Given the description of an element on the screen output the (x, y) to click on. 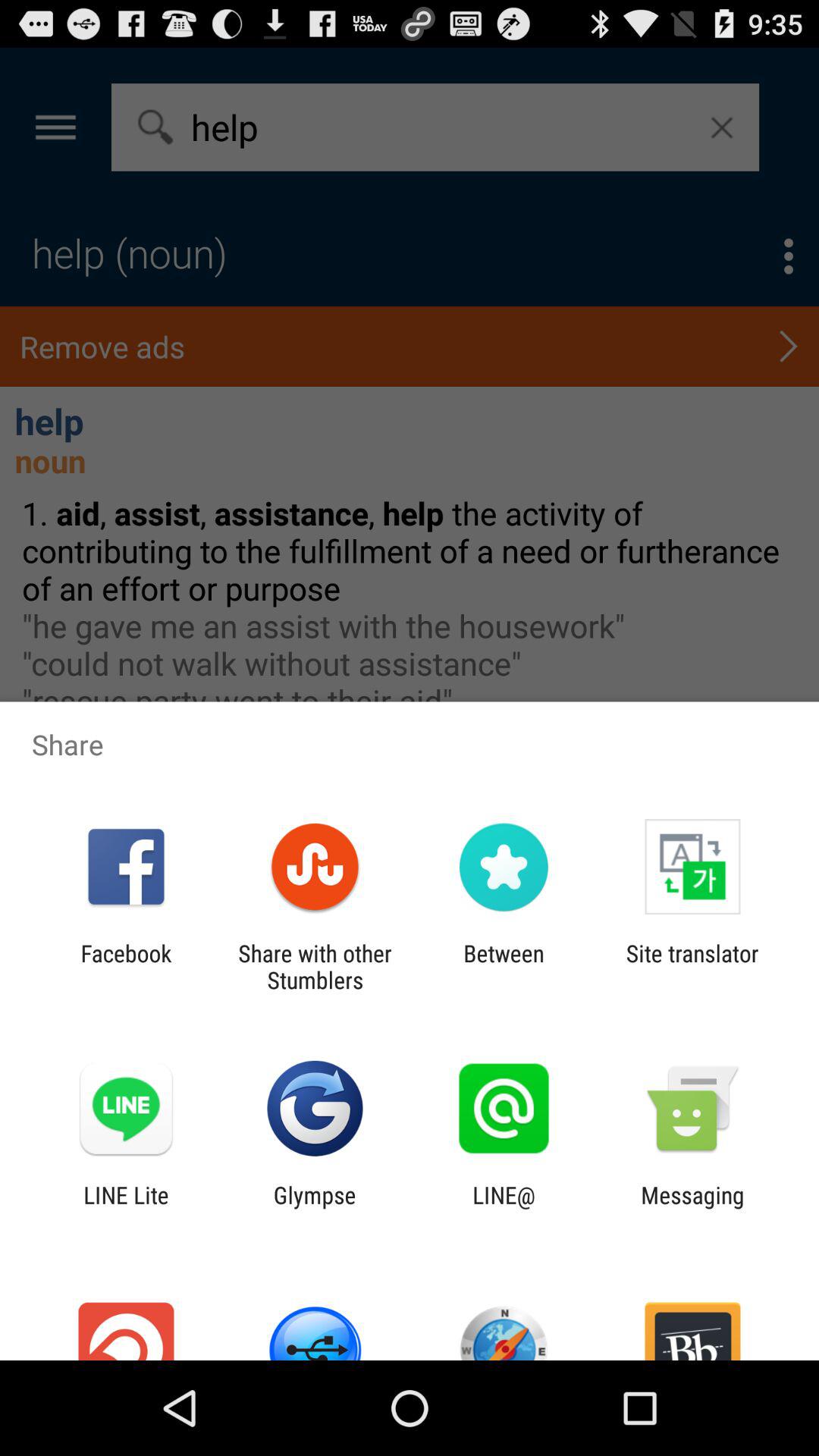
flip to between item (503, 966)
